Given the description of an element on the screen output the (x, y) to click on. 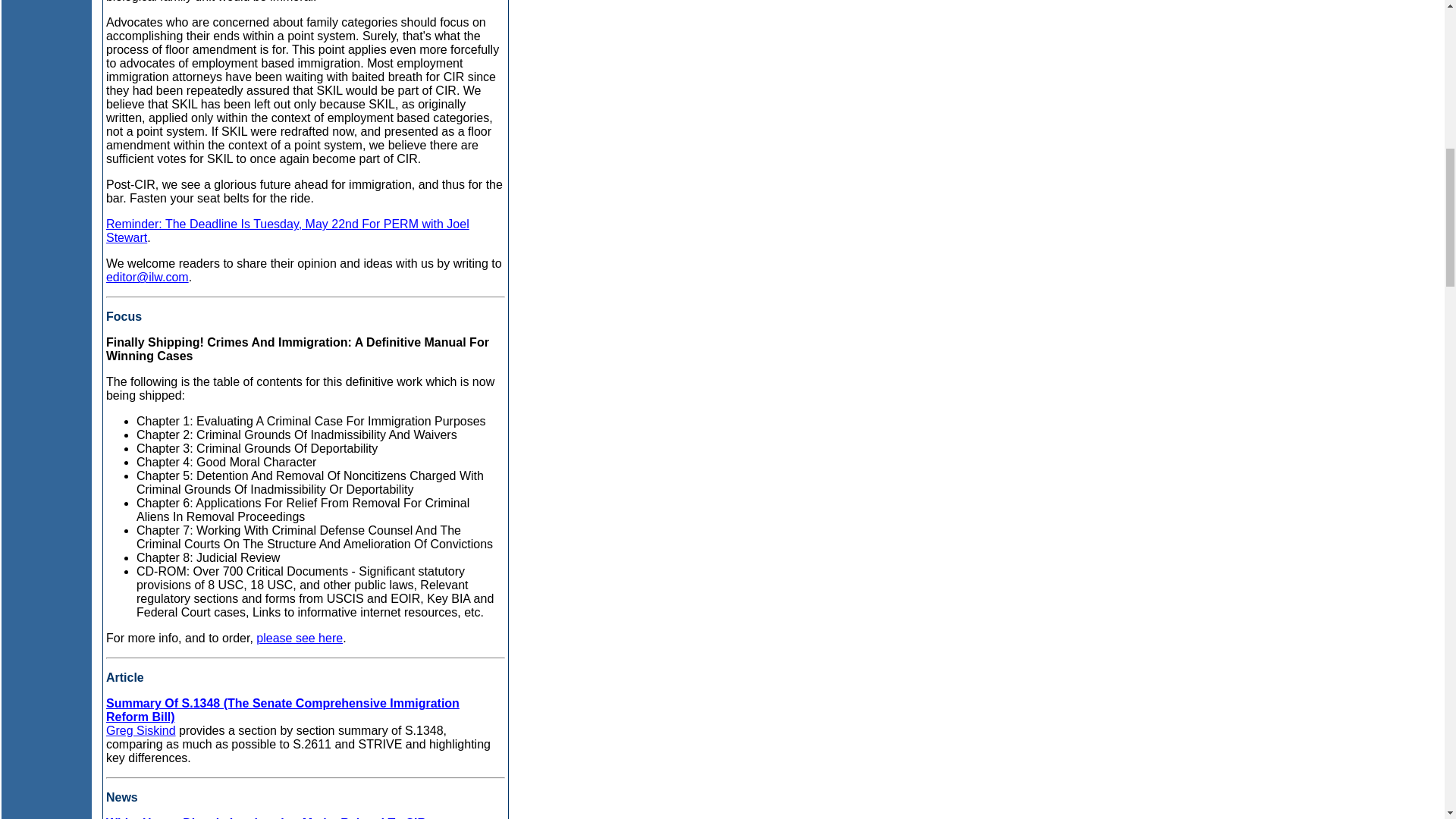
please see here (299, 637)
Focus (123, 316)
